Given the description of an element on the screen output the (x, y) to click on. 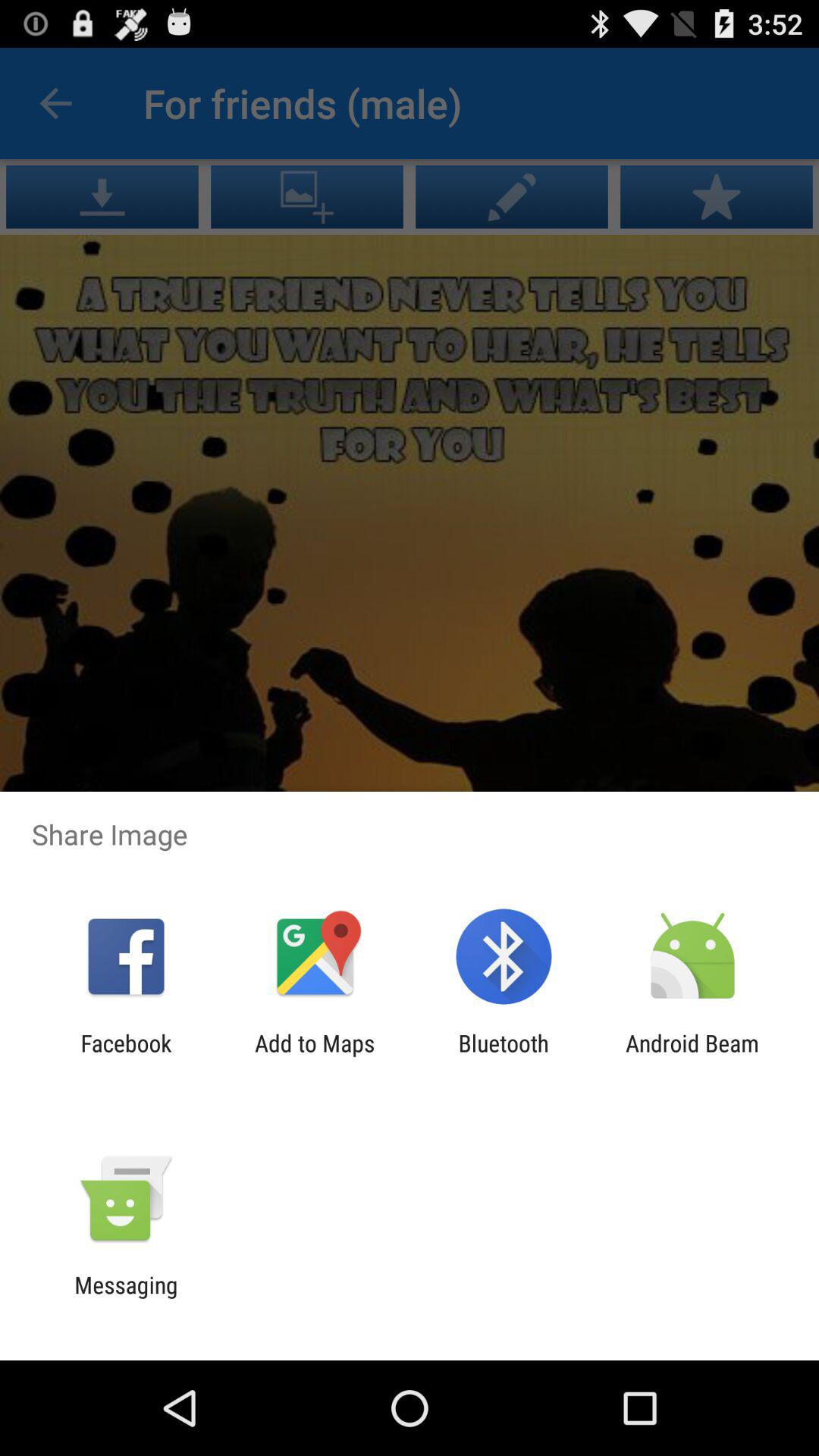
choose the messaging app (126, 1298)
